Given the description of an element on the screen output the (x, y) to click on. 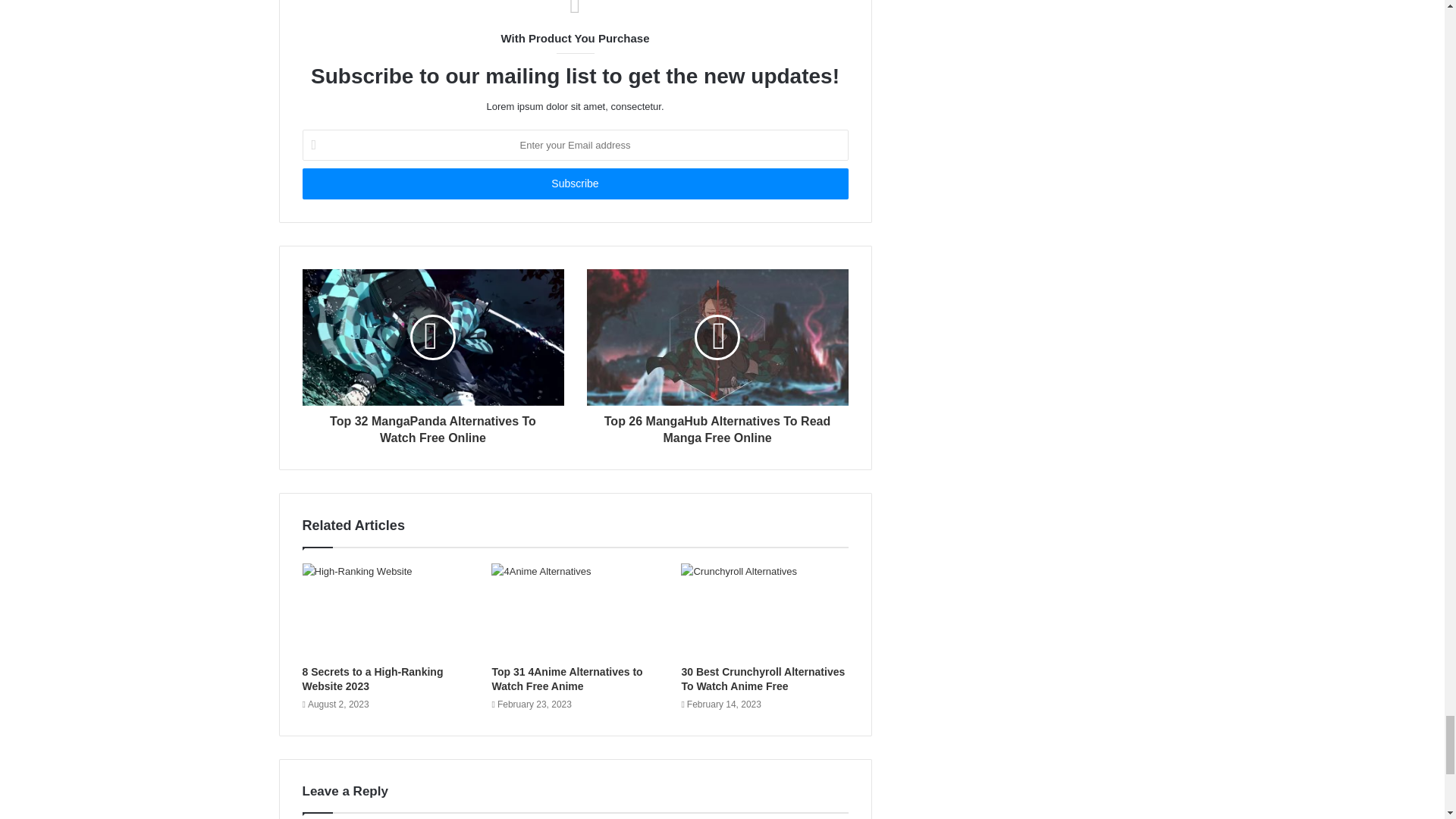
Subscribe (574, 183)
